Given the description of an element on the screen output the (x, y) to click on. 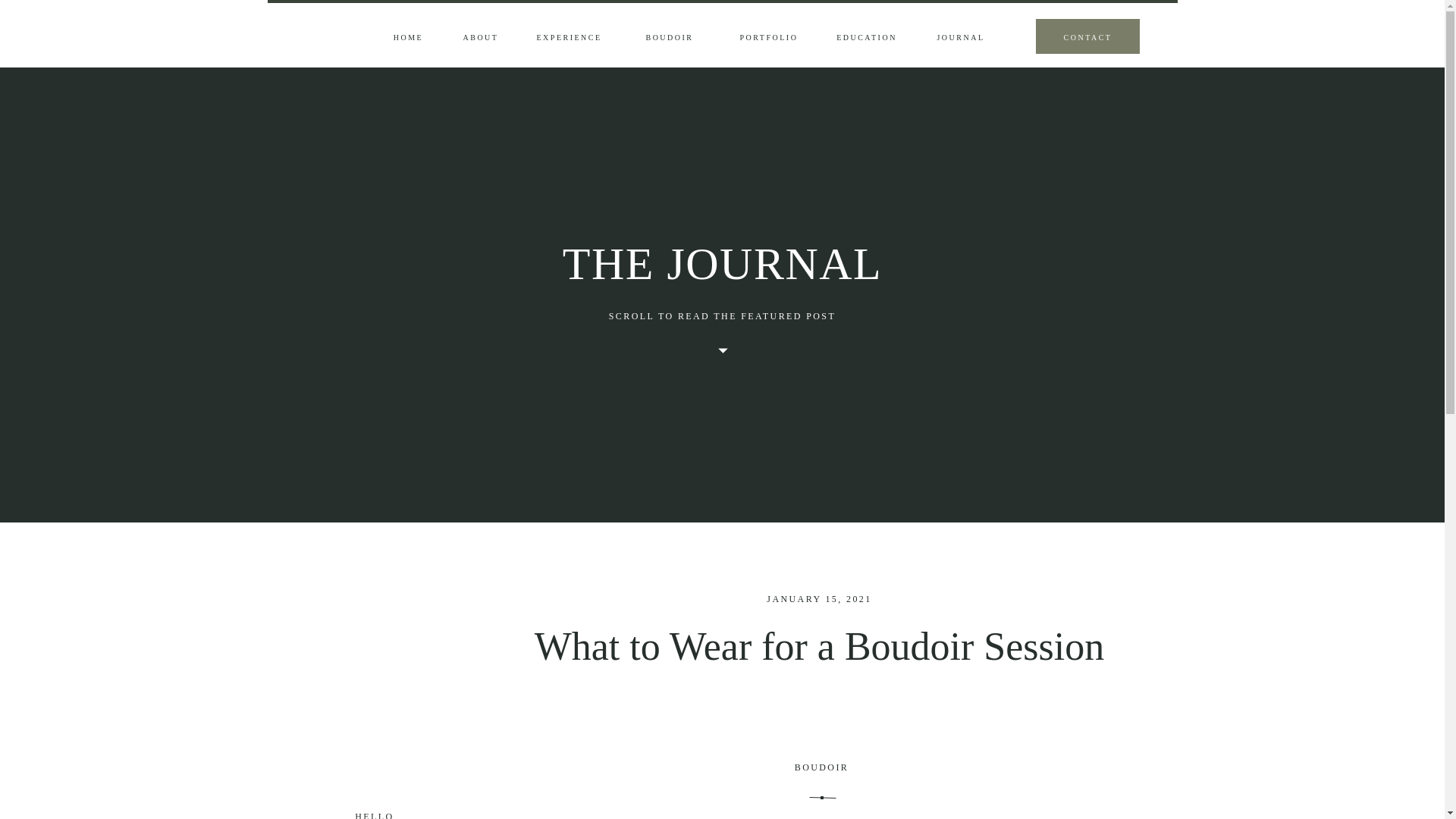
EXPERIENCE (568, 38)
ABOUT (480, 38)
CONTACT (1087, 38)
BOUDOIR (670, 38)
JOURNAL (960, 38)
PORTFOLIO (768, 38)
HOME (409, 38)
EDUCATION (865, 38)
